Given the description of an element on the screen output the (x, y) to click on. 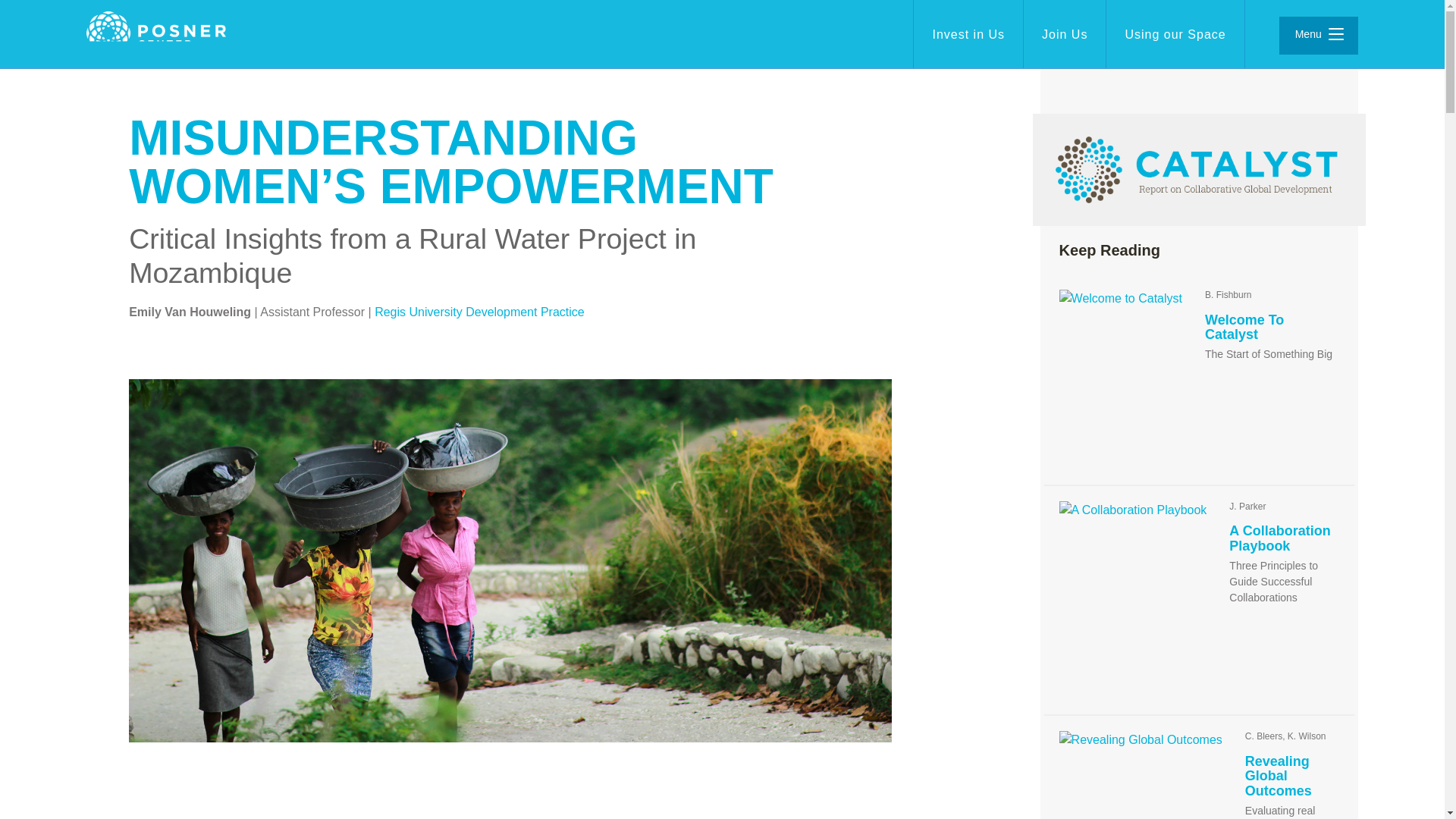
Invest in Us (968, 34)
Menu (1318, 35)
Join Us (1064, 34)
Using our Space (1174, 34)
